Given the description of an element on the screen output the (x, y) to click on. 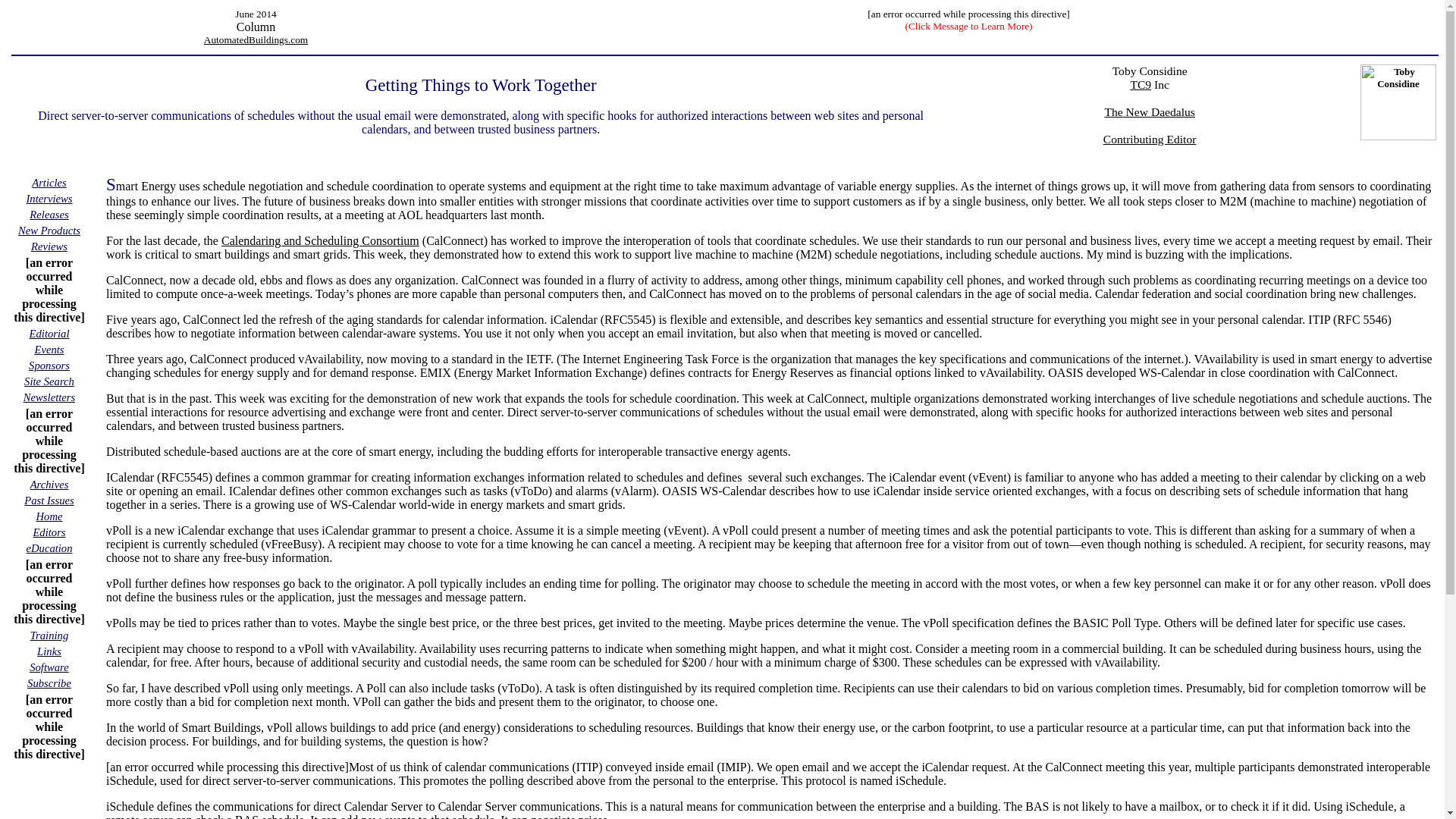
Contributing Editor (1149, 145)
Archives (49, 483)
Calendaring and Scheduling Consortium (320, 240)
Subscribe (49, 682)
Editors (48, 531)
Home (48, 515)
TC9 (1140, 83)
Past Issues (49, 499)
Articles (49, 182)
Reviews (48, 245)
Site Search (49, 380)
Releases (48, 214)
AutomatedBuildings.com (255, 39)
Editorial (49, 332)
Sponsors (49, 364)
